Given the description of an element on the screen output the (x, y) to click on. 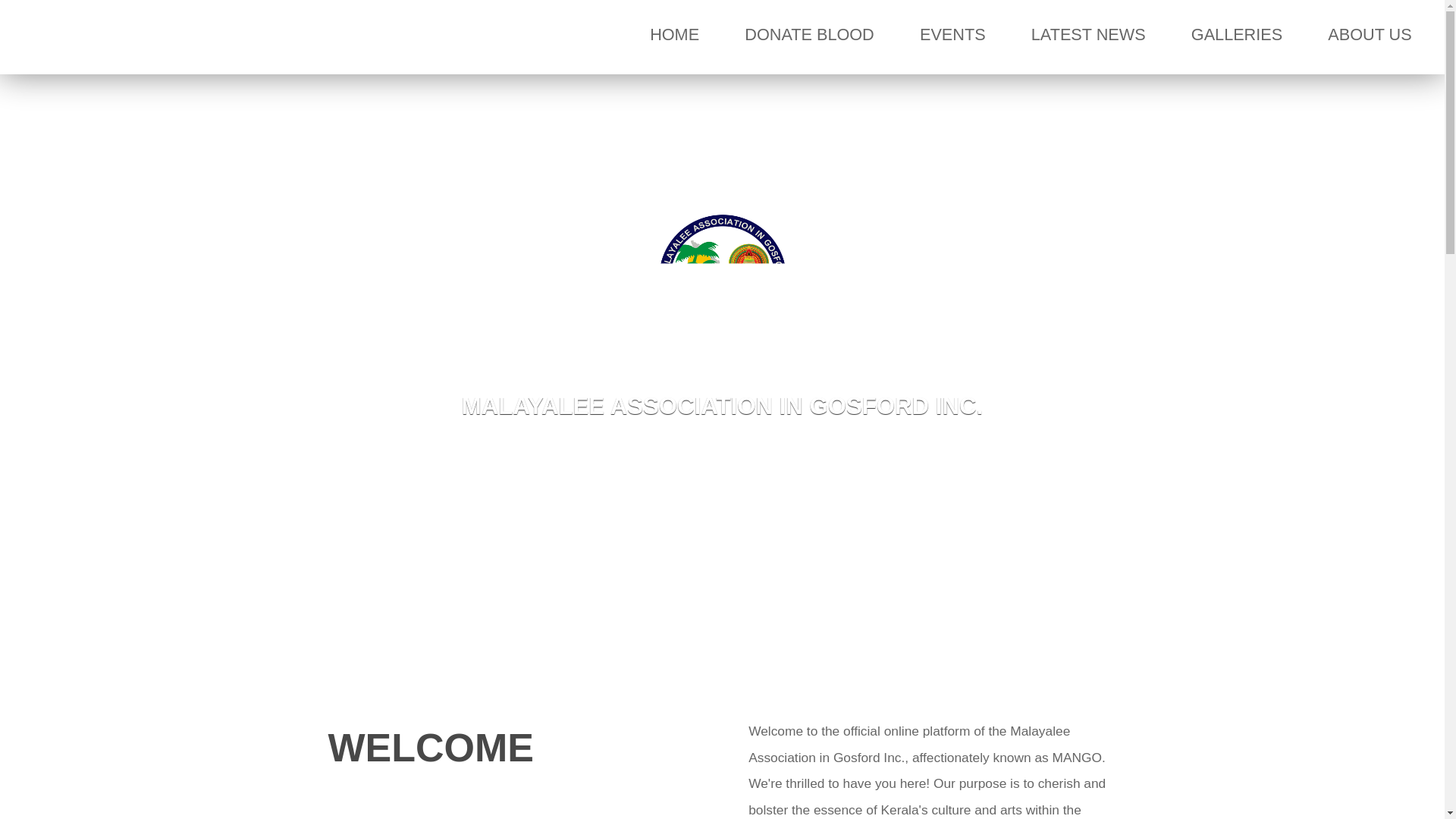
EVENTS (952, 34)
GALLERIES (1236, 34)
DONATE BLOOD (808, 34)
LATEST NEWS (1087, 34)
ABOUT US (1368, 34)
